Given the description of an element on the screen output the (x, y) to click on. 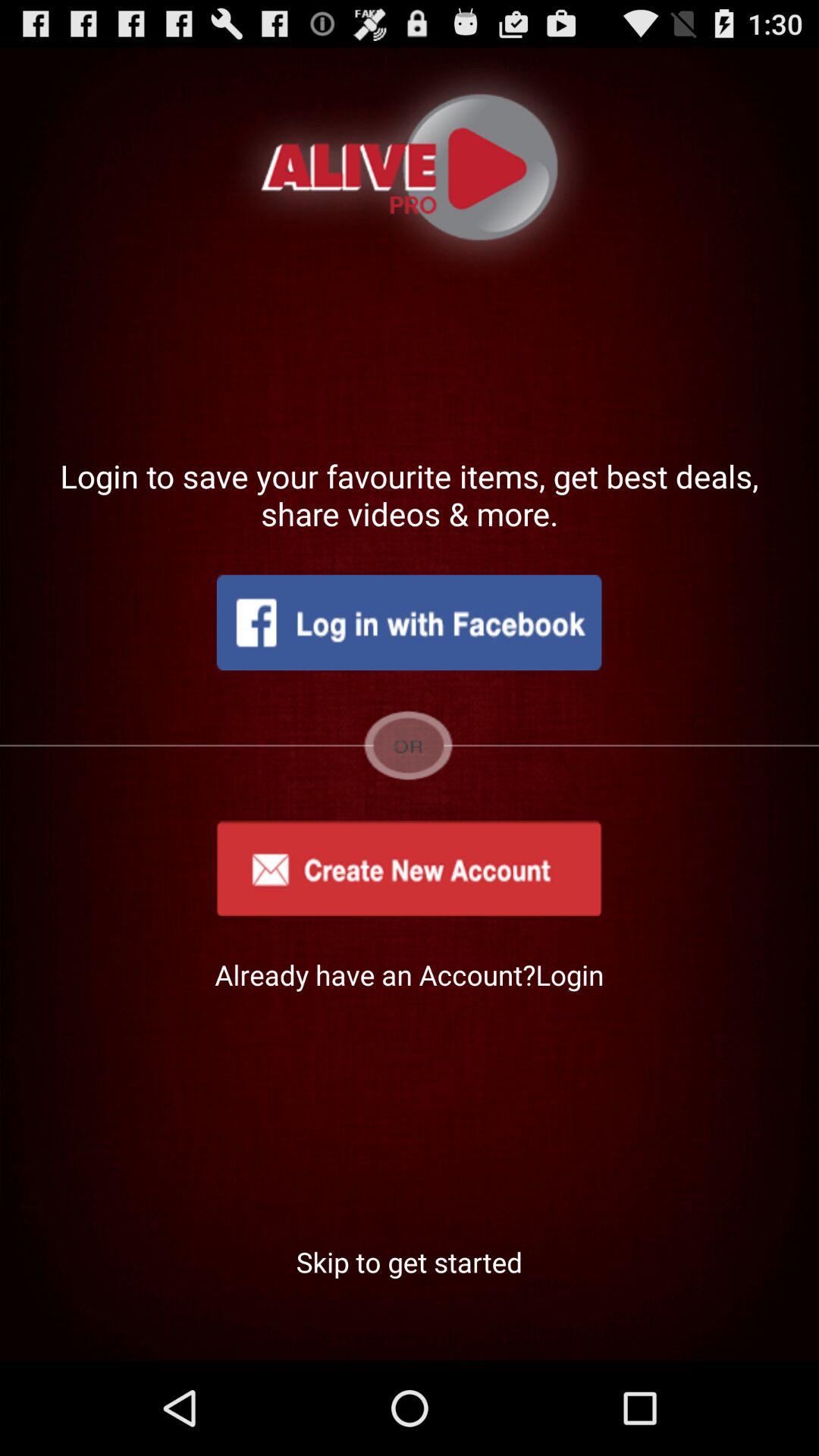
select the item below login to save icon (408, 622)
